Given the description of an element on the screen output the (x, y) to click on. 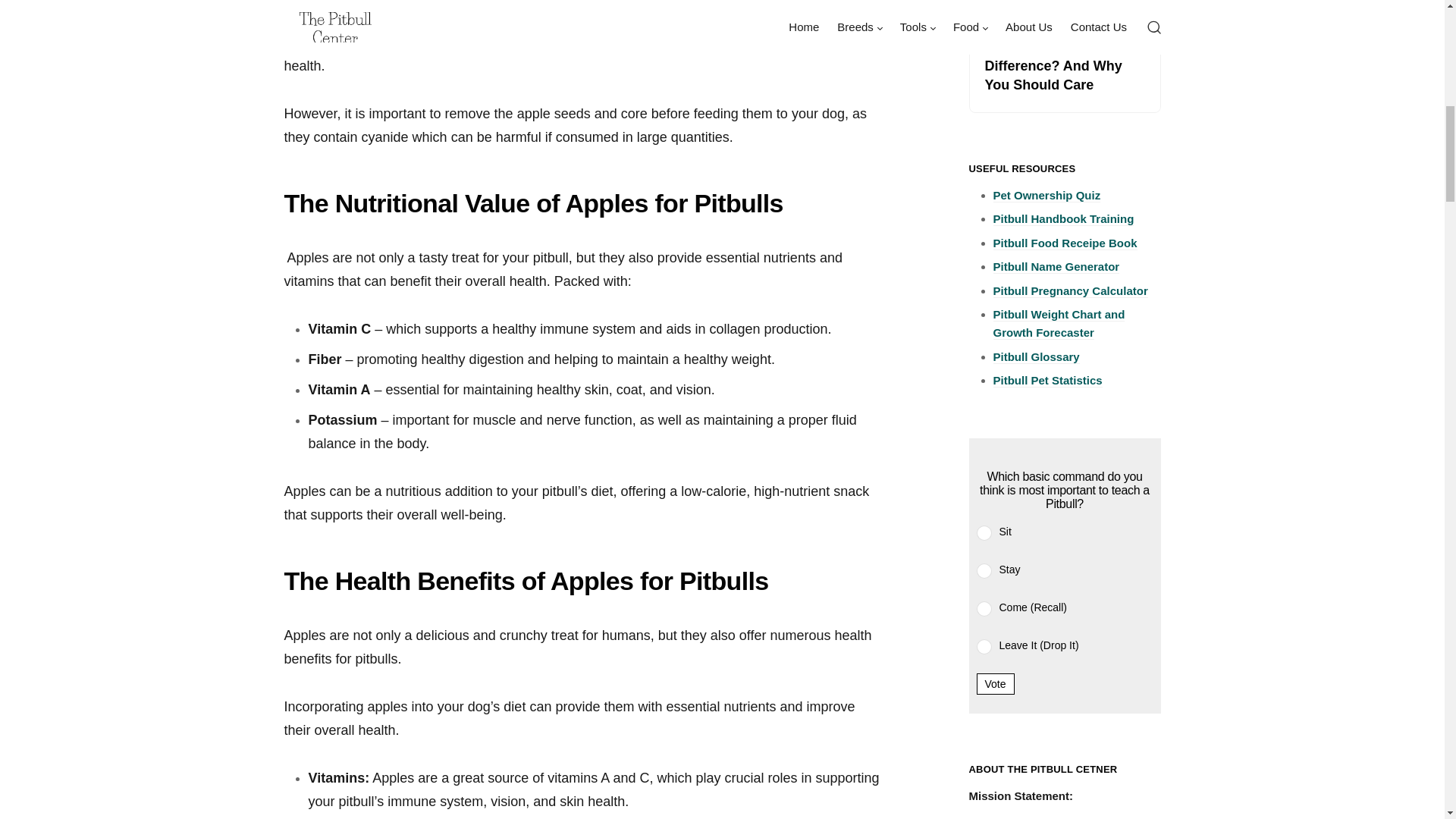
4 (983, 646)
3 (983, 608)
2 (983, 570)
1 (983, 532)
